Given the description of an element on the screen output the (x, y) to click on. 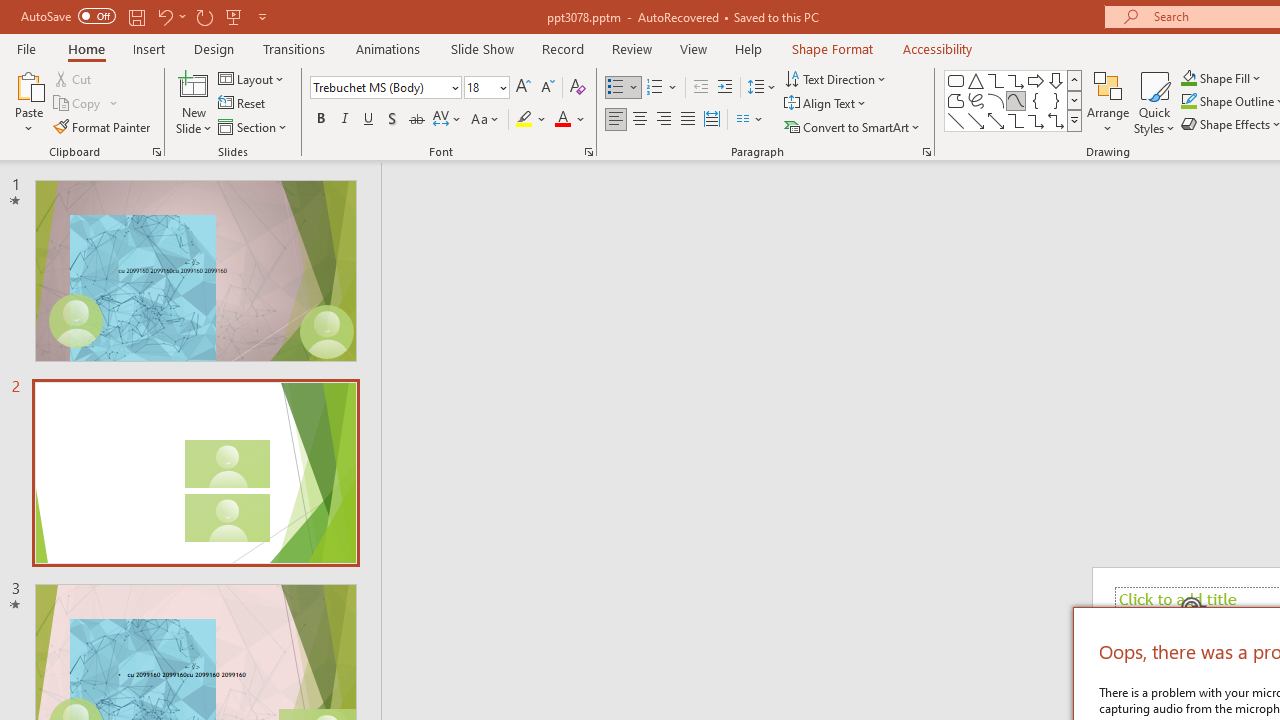
Connector: Elbow Double-Arrow (1055, 120)
